Given the description of an element on the screen output the (x, y) to click on. 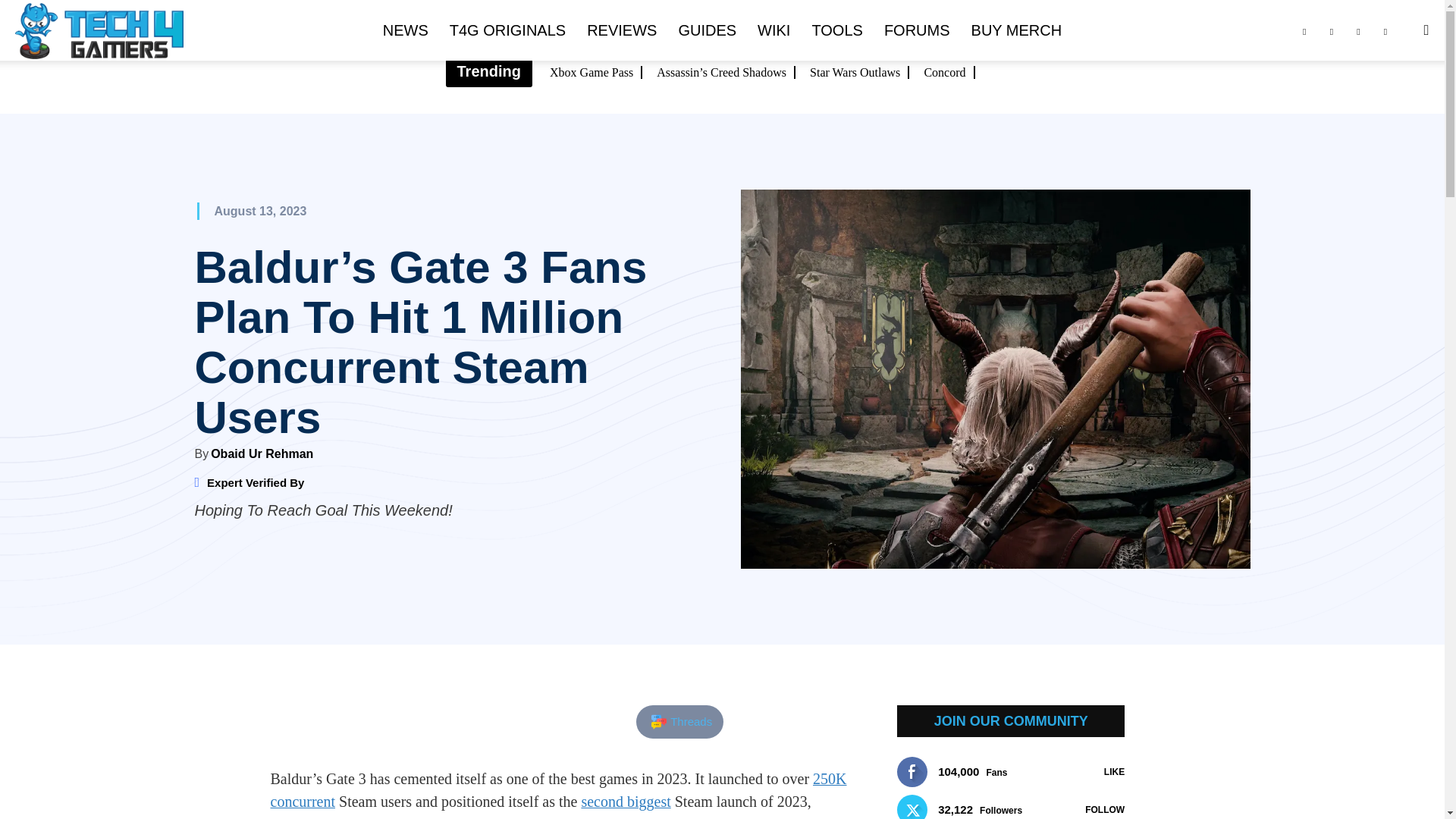
Xbox Game Pass (596, 72)
Tech4Gamers Logo (98, 30)
